Given the description of an element on the screen output the (x, y) to click on. 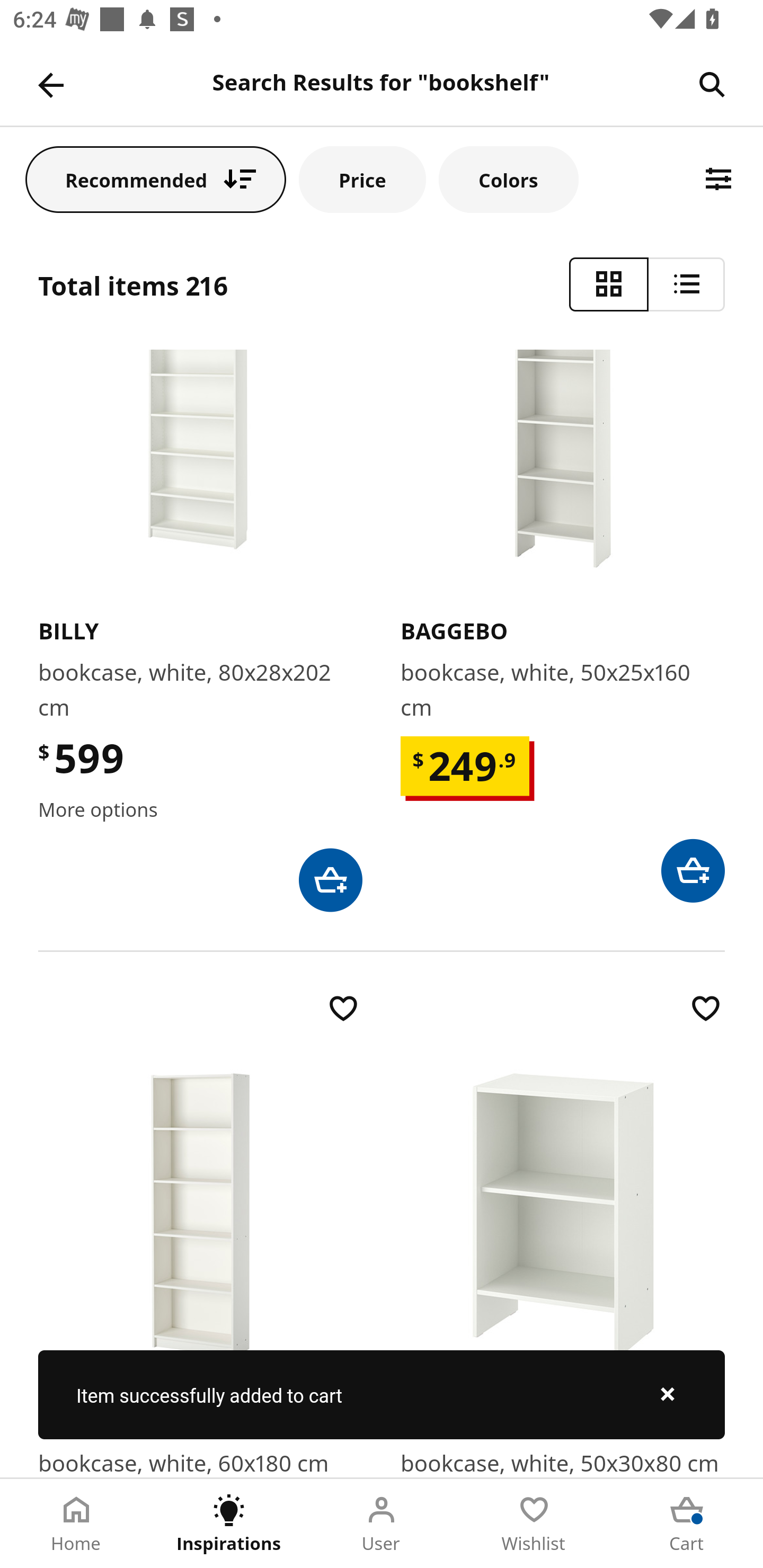
Recommended (155, 179)
Price (362, 179)
Colors (508, 179)
​G​E​R​S​B​Y​
bookcase, white, 60x180 cm
$
279
.9 (200, 1233)
Item successfully added to cart (381, 1394)
Home
Tab 1 of 5 (76, 1522)
Inspirations
Tab 2 of 5 (228, 1522)
User
Tab 3 of 5 (381, 1522)
Wishlist
Tab 4 of 5 (533, 1522)
Cart
Tab 5 of 5 (686, 1522)
